Given the description of an element on the screen output the (x, y) to click on. 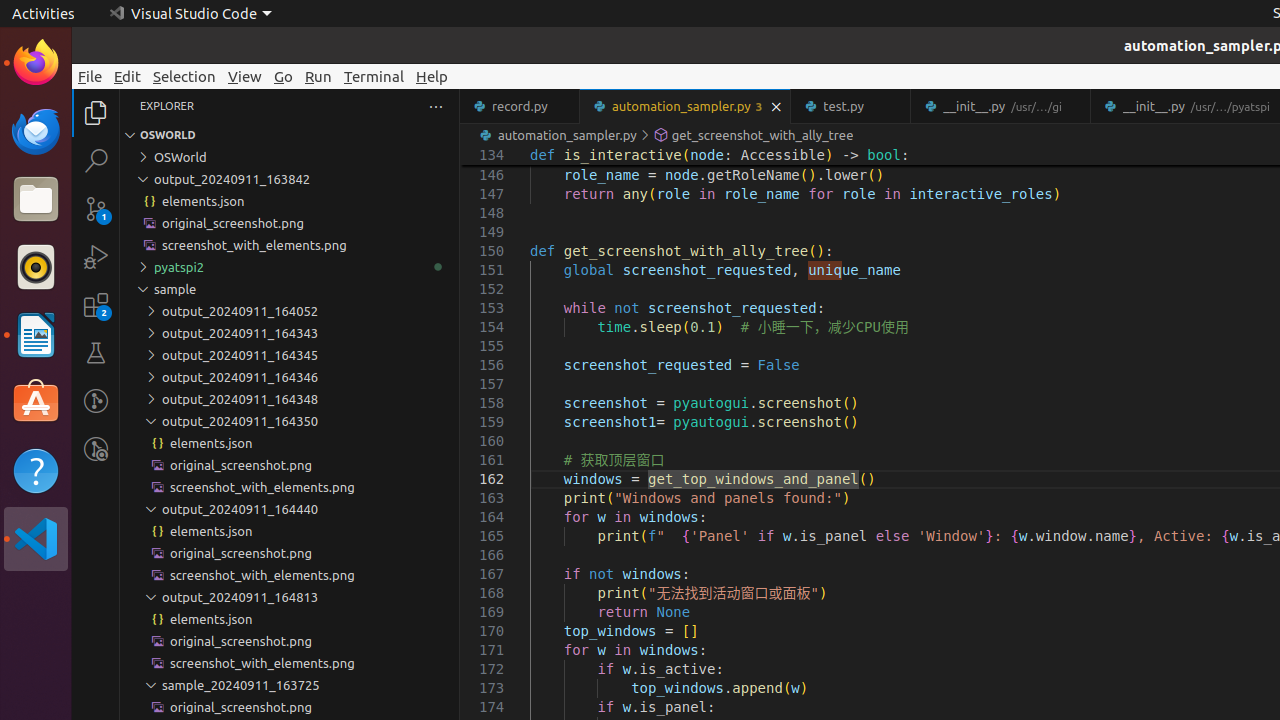
Edit Element type: push-button (127, 76)
